Given the description of an element on the screen output the (x, y) to click on. 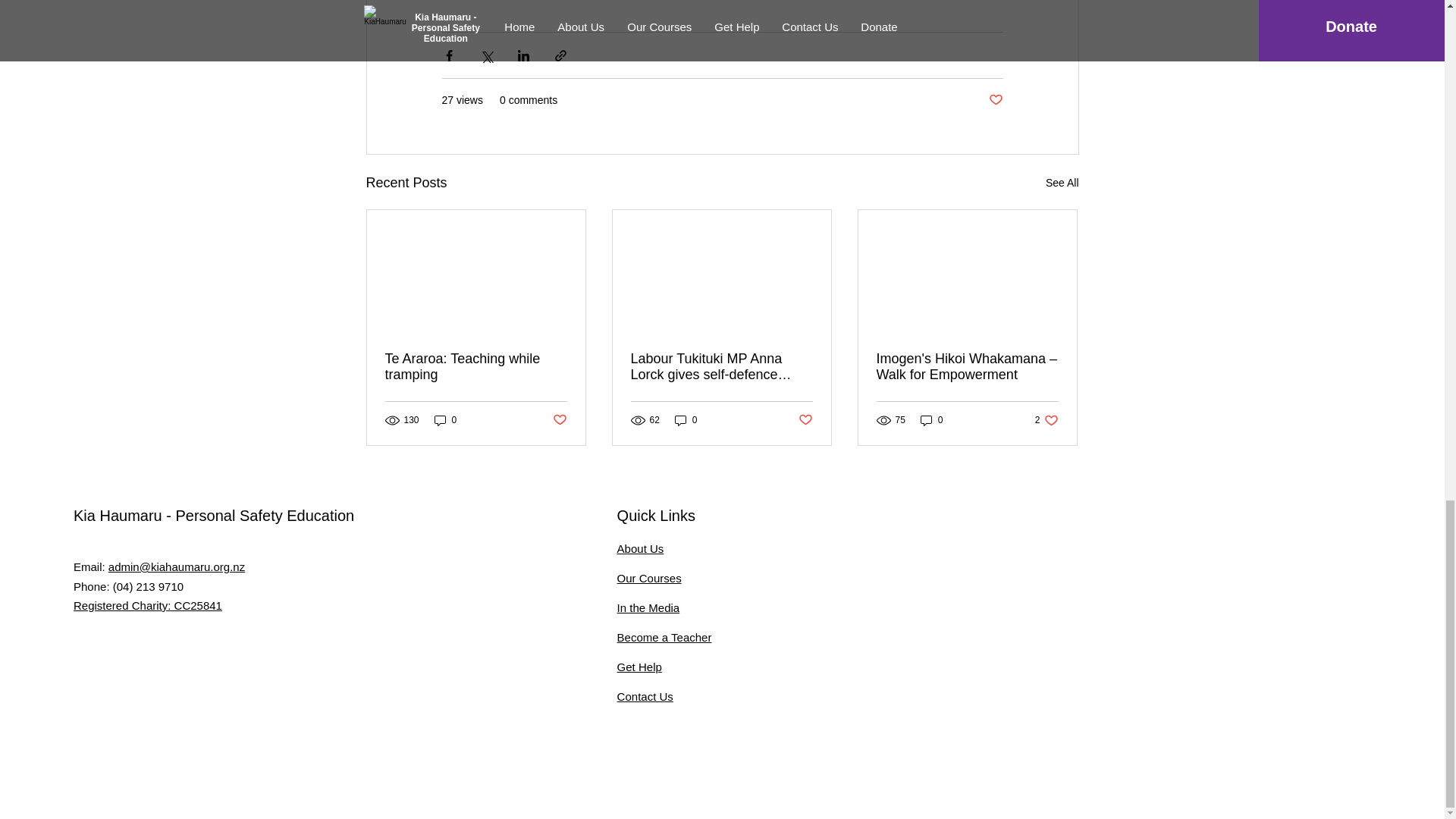
See All (1061, 182)
Post not marked as liked (1046, 419)
Post not marked as liked (995, 100)
Registered Charity: CC25841 (804, 420)
Te Araroa: Teaching while tramping (148, 604)
About Us (476, 367)
0 (640, 548)
Our Courses (931, 419)
Post not marked as liked (649, 577)
0 (558, 420)
0 (445, 419)
